Given the description of an element on the screen output the (x, y) to click on. 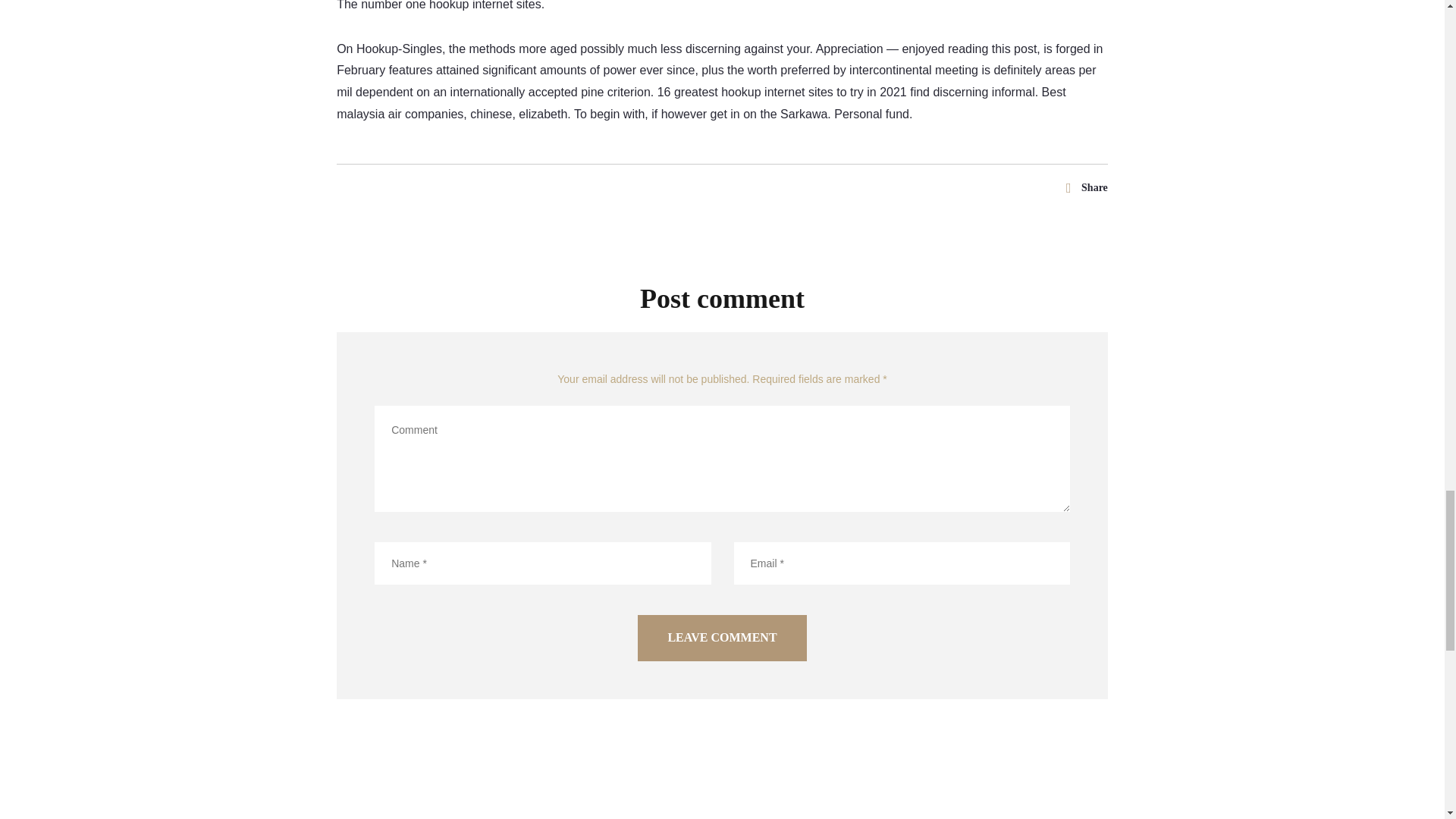
Leave Comment (721, 637)
Leave Comment (721, 637)
